Given the description of an element on the screen output the (x, y) to click on. 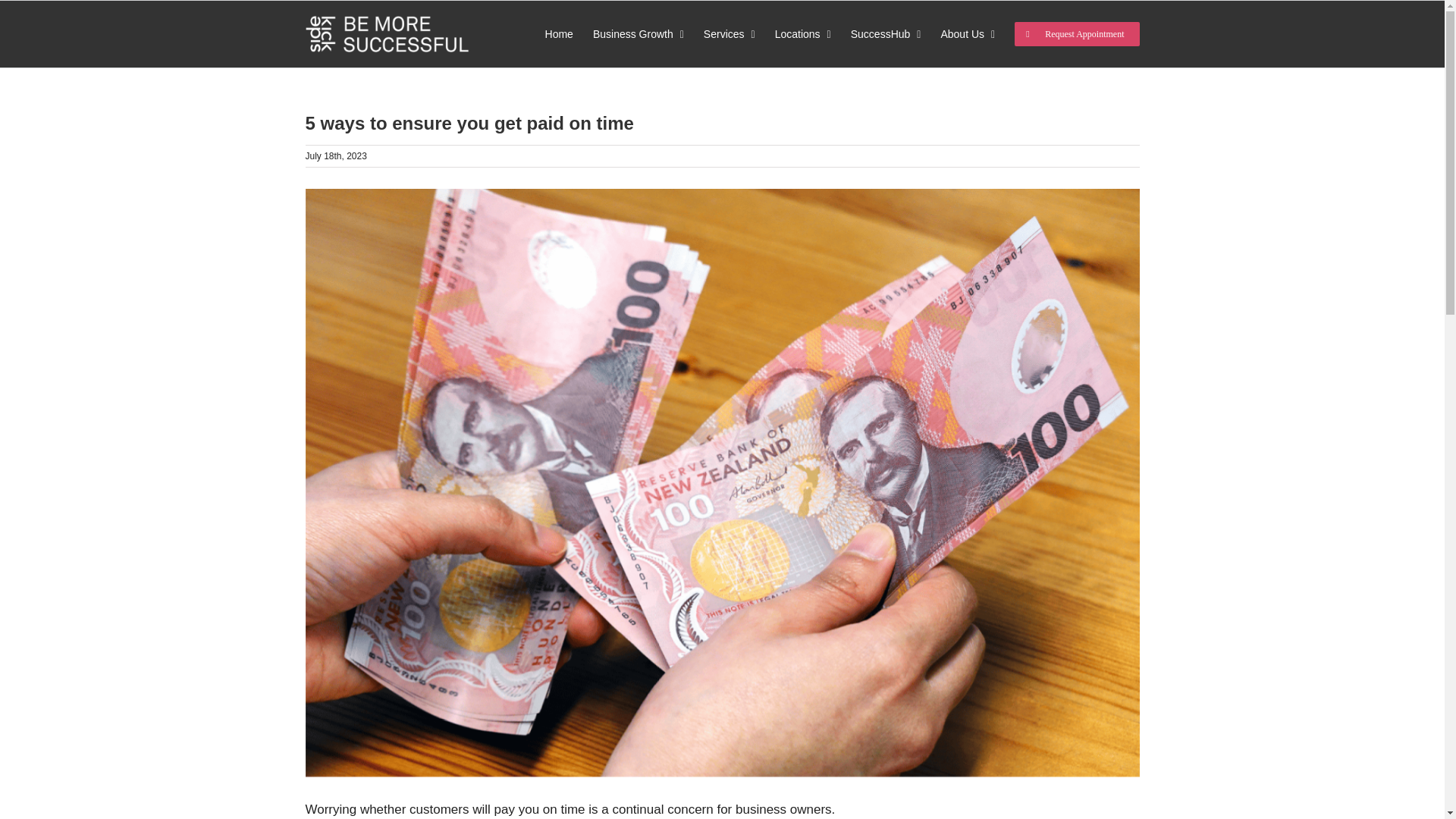
Request Appointment (1076, 33)
SuccessHub (885, 33)
Business Growth (638, 33)
